Given the description of an element on the screen output the (x, y) to click on. 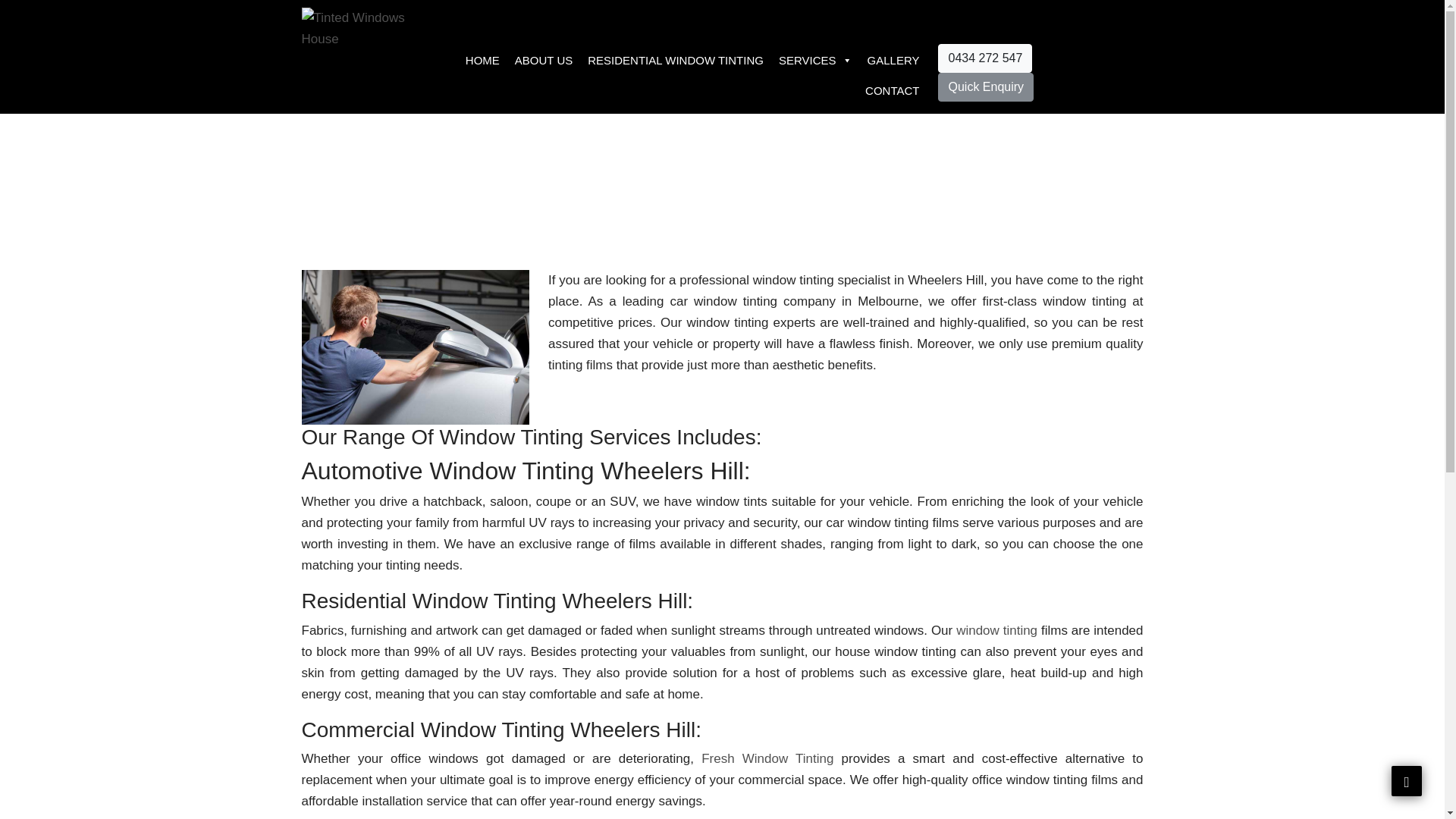
ABOUT US (542, 60)
Fresh Window Tinting (766, 758)
SERVICES (815, 60)
HOME (482, 60)
0434 272 547 (984, 58)
RESIDENTIAL WINDOW TINTING (675, 60)
GALLERY (893, 60)
window tinting (996, 630)
CONTACT (891, 91)
Quick Enquiry (985, 86)
